Given the description of an element on the screen output the (x, y) to click on. 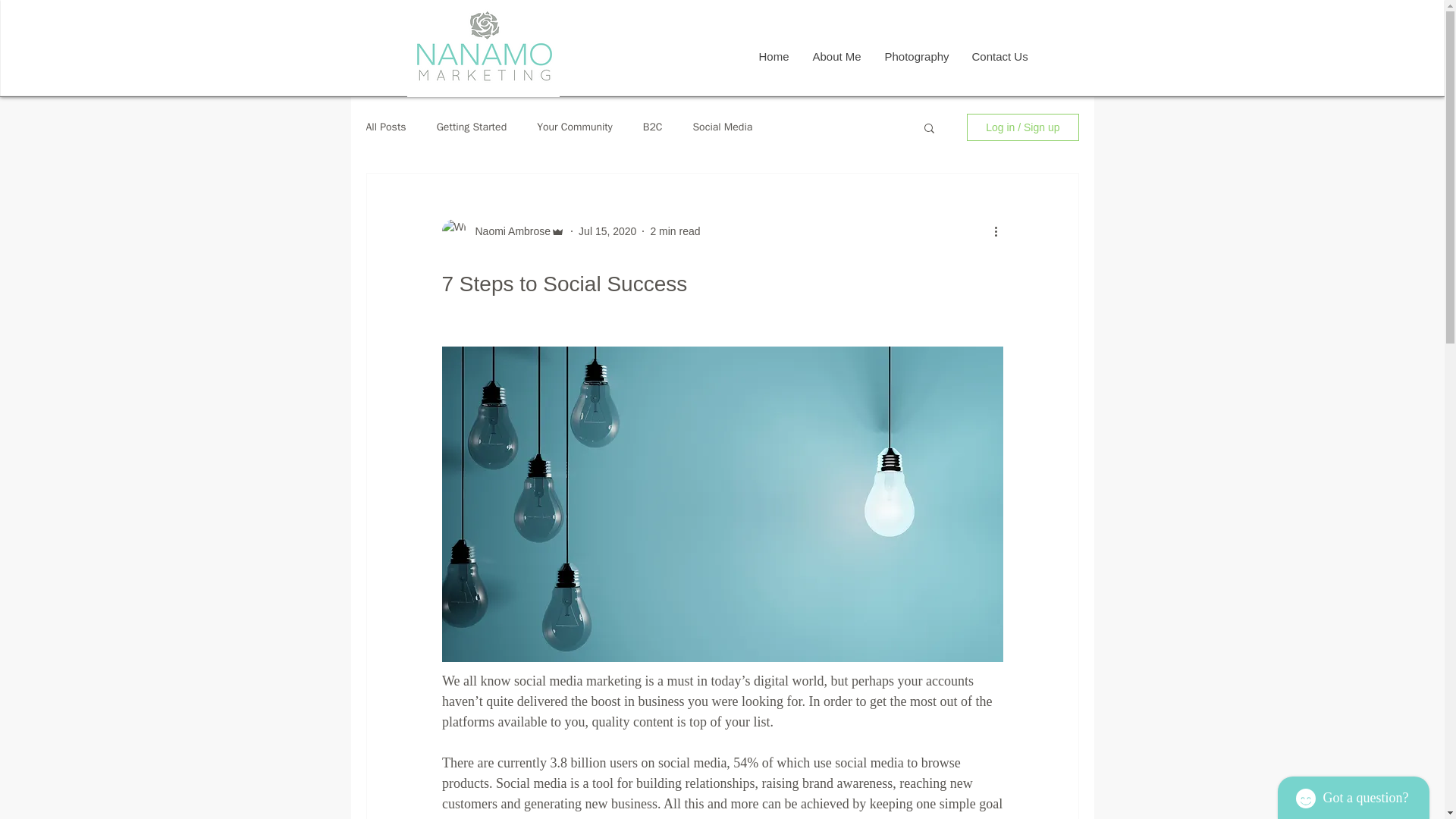
Contact Us (999, 56)
Home (772, 56)
About Me (836, 56)
All Posts (385, 127)
Social Media (722, 127)
Jul 15, 2020 (607, 230)
Your Community (574, 127)
2 min read (674, 230)
Photography (915, 56)
Getting Started (471, 127)
Naomi Ambrose (507, 230)
B2C (652, 127)
